Given the description of an element on the screen output the (x, y) to click on. 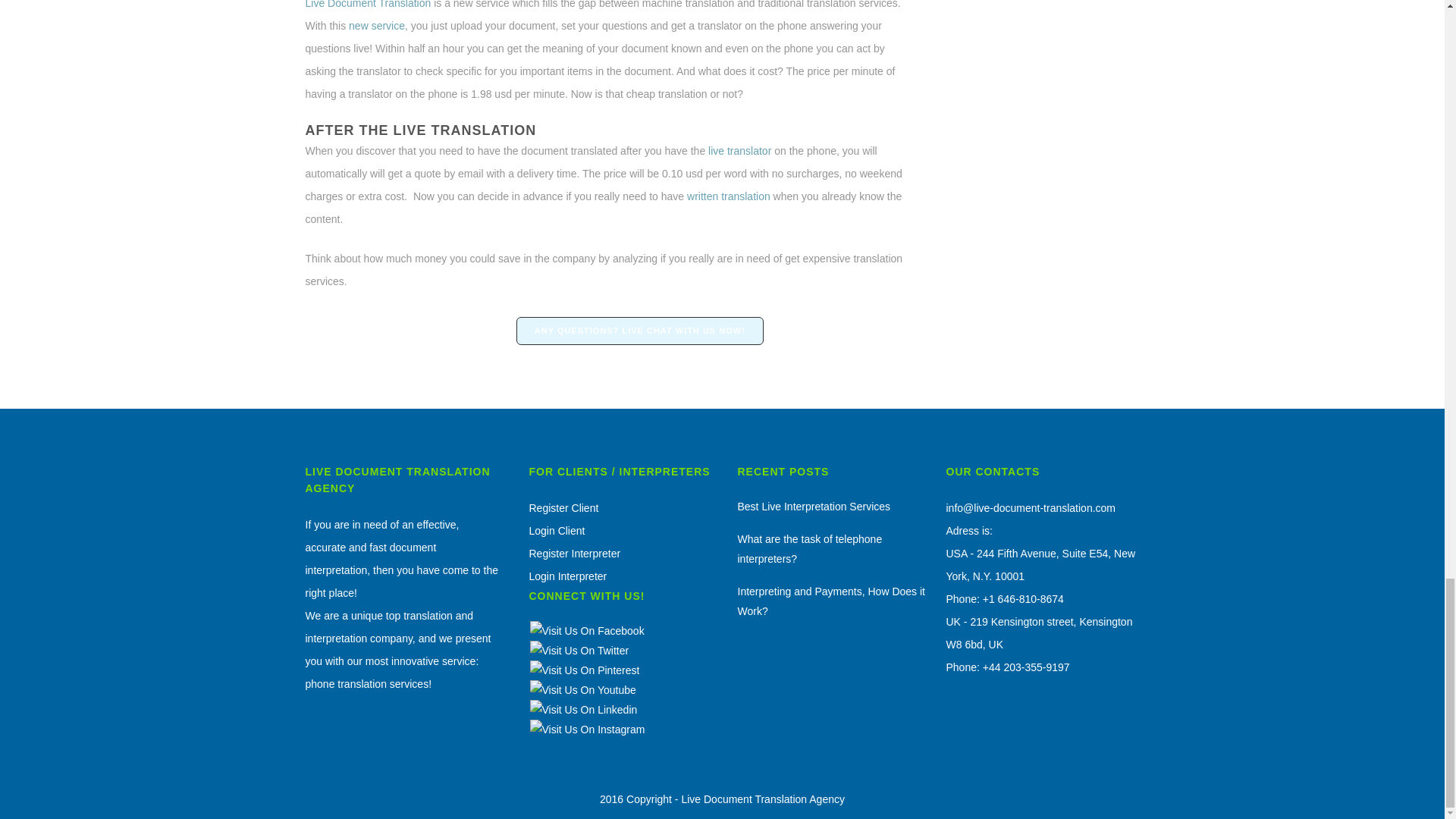
live translator (739, 150)
written translation (727, 196)
Visit Us On Instagram (587, 729)
Visit Us On Linkedin (583, 709)
Visit Us On Pinterest (584, 670)
Visit Us On Facebook (587, 630)
LIVE TRANSLATION (464, 130)
ANY QUESTIONS? LIVE CHAT WITH US NOW! (639, 330)
Visit Us On Youtube (582, 689)
Live Document Translation (367, 4)
